Given the description of an element on the screen output the (x, y) to click on. 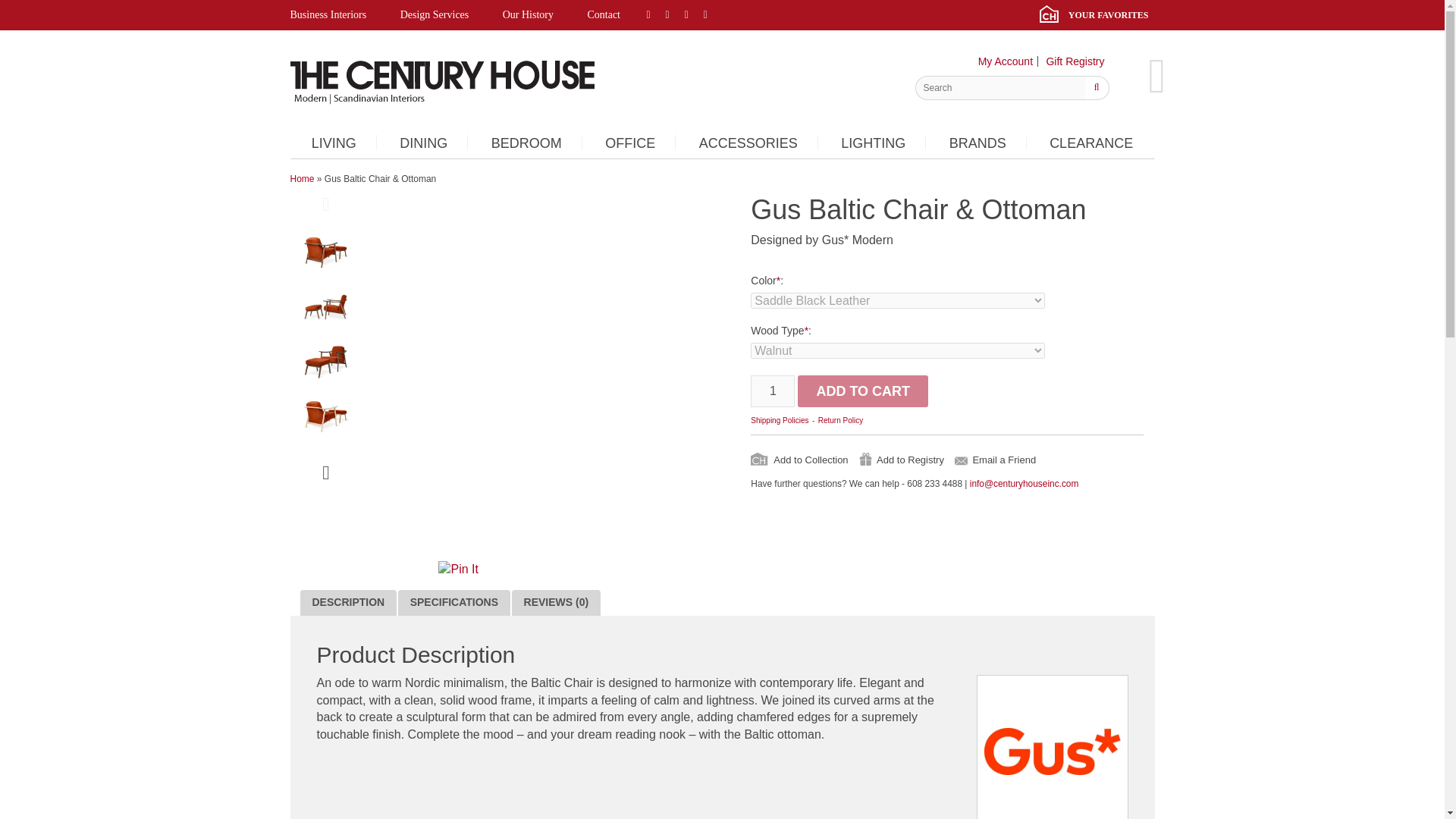
GUS Product (325, 307)
YOUR FAVORITES (1096, 15)
Our History (528, 15)
GUS Product (325, 362)
Design Services (434, 15)
Gift Registry (1074, 61)
GUS Product (325, 416)
Business Interiors (335, 15)
1 (772, 391)
Contact (603, 15)
